Given the description of an element on the screen output the (x, y) to click on. 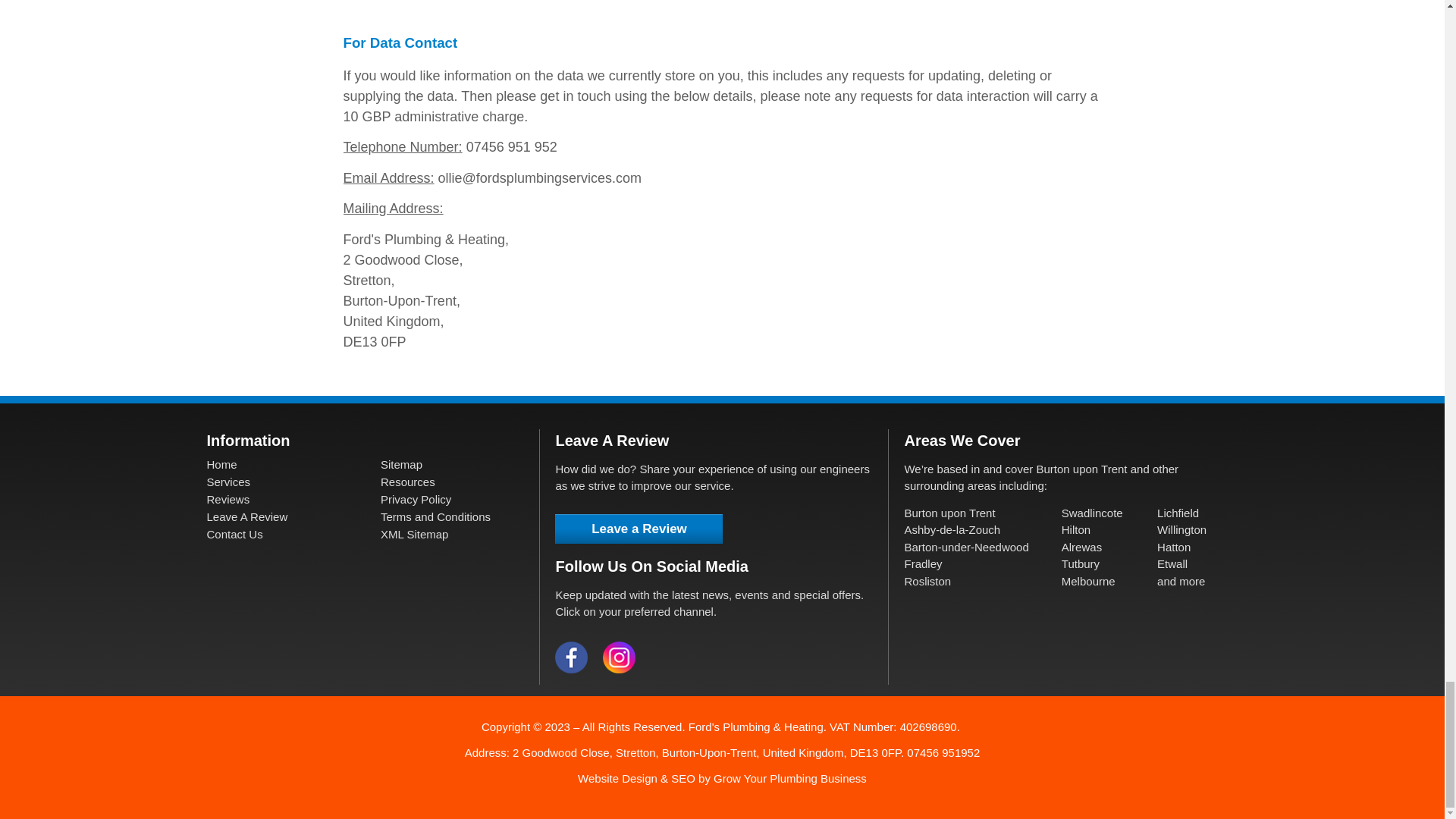
Home (220, 463)
Terms and Conditions (435, 516)
Privacy Policy (415, 499)
Instagram Icon (618, 657)
Services (228, 481)
Reviews (227, 499)
XML Sitemap (414, 533)
Leave A Review (246, 516)
Contact Us (234, 533)
Sitemap (401, 463)
Facebook Icon (571, 657)
Resources (407, 481)
